Given the description of an element on the screen output the (x, y) to click on. 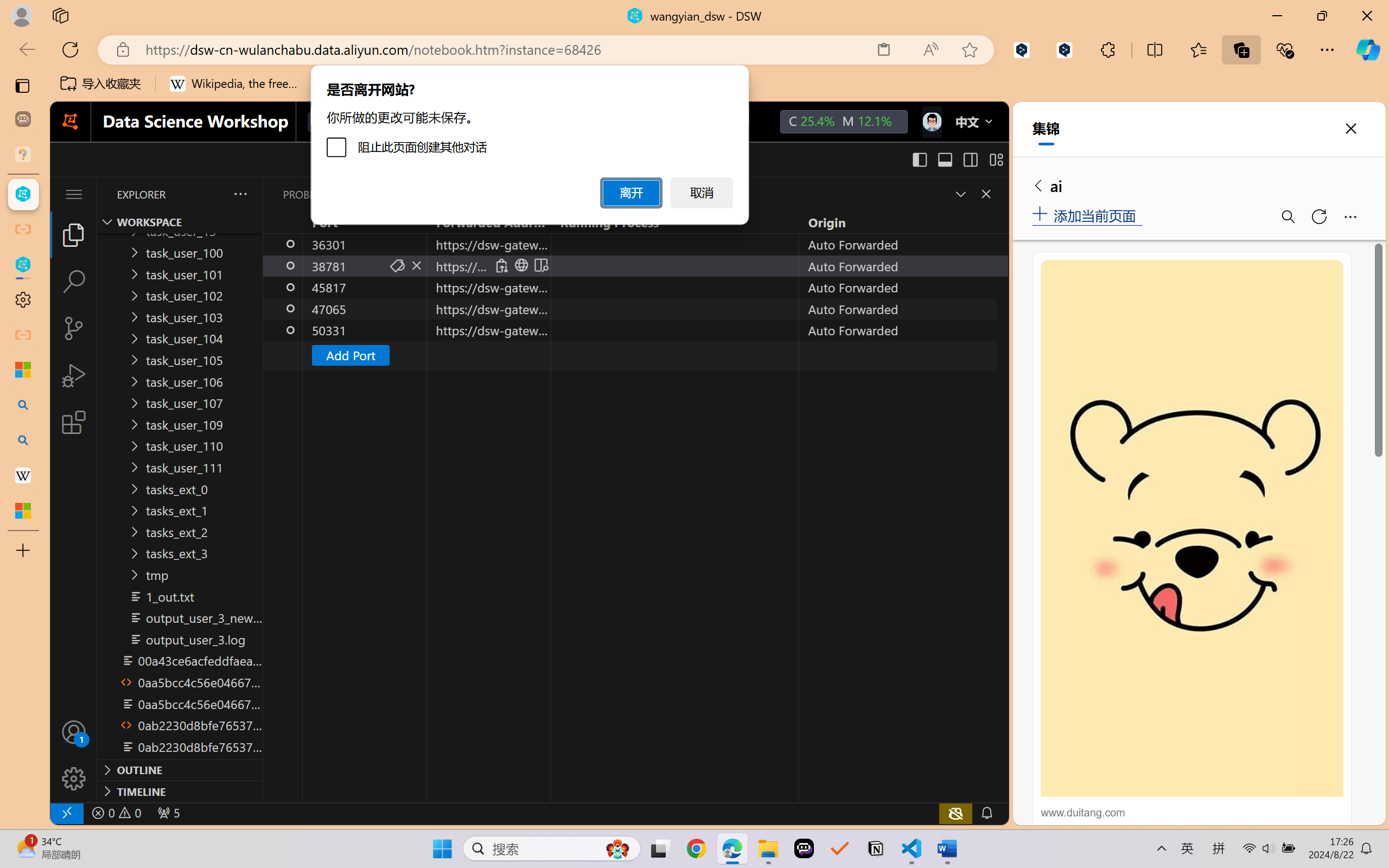
Close Panel (986, 193)
Add Port (635, 355)
Run and Debug (Ctrl+Shift+D) (73, 375)
copilot-notconnected, Copilot error (click for details) (955, 812)
Manage (73, 755)
Outline Section (179, 769)
Class: actions-container (974, 194)
